Given the description of an element on the screen output the (x, y) to click on. 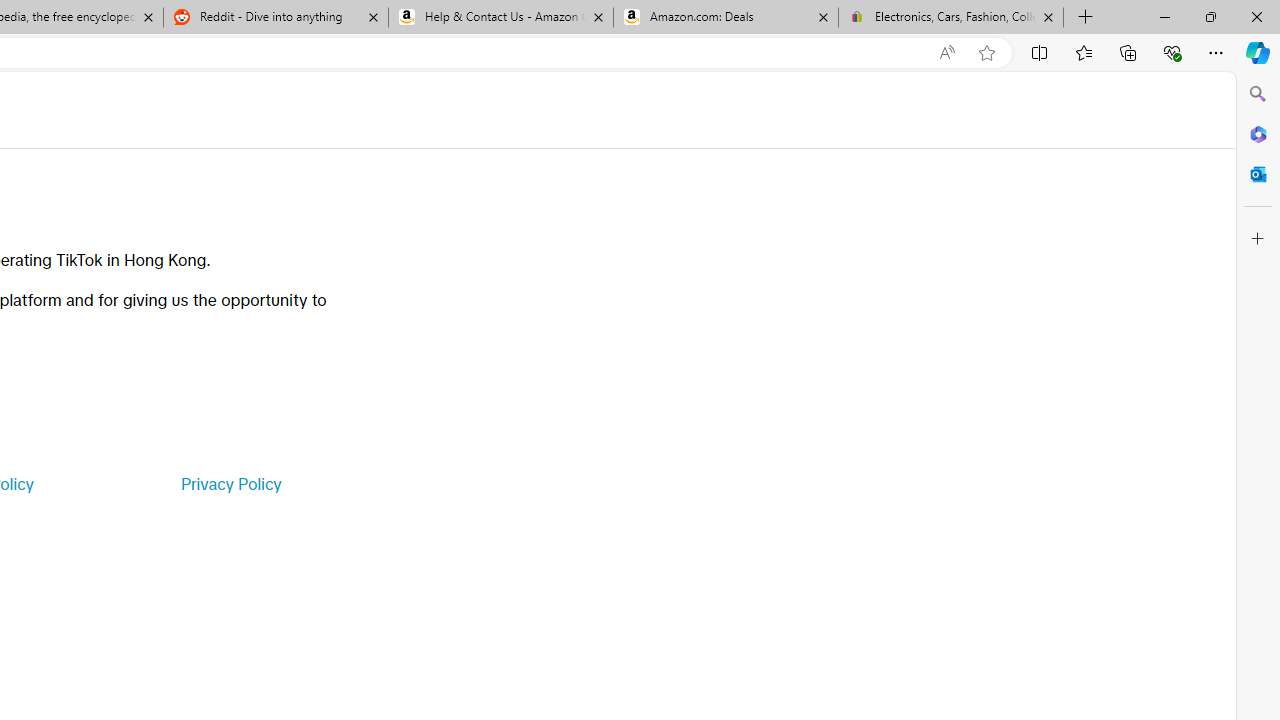
Amazon.com: Deals (726, 17)
Privacy Policy (230, 484)
